Given the description of an element on the screen output the (x, y) to click on. 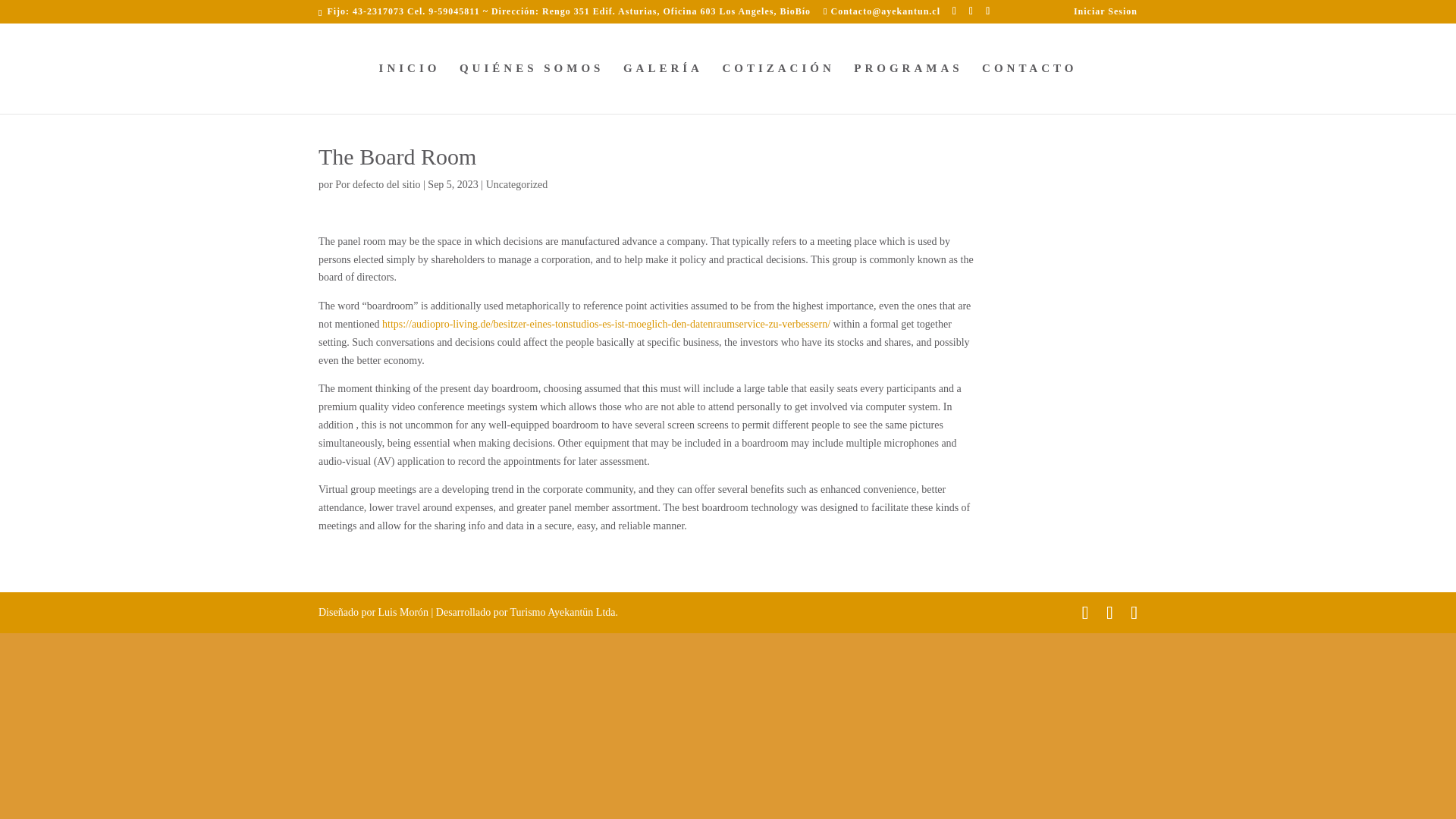
PROGRAMAS (907, 88)
Iniciar Sesion (1105, 14)
Mensajes de Por defecto del sitio (377, 184)
CONTACTO (1029, 88)
Uncategorized (517, 184)
INICIO (409, 88)
Por defecto del sitio (377, 184)
